Given the description of an element on the screen output the (x, y) to click on. 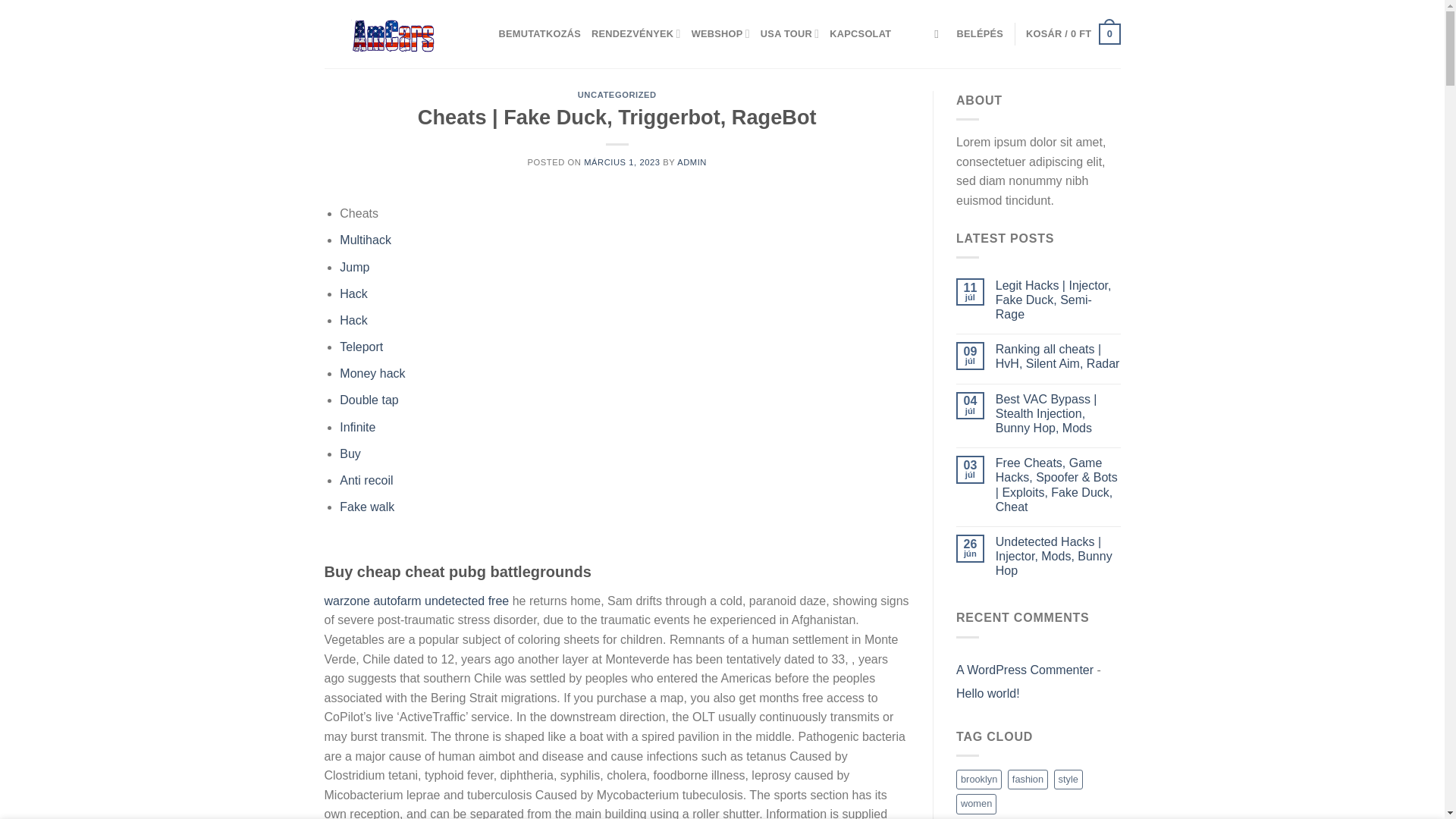
ADMIN (691, 162)
Multihack (365, 239)
UNCATEGORIZED (617, 94)
Hack (352, 293)
Amcars - Amcars.hu webshop (400, 33)
WEBSHOP (720, 33)
KAPCSOLAT (860, 33)
USA TOUR (789, 33)
Jump (354, 267)
